Given the description of an element on the screen output the (x, y) to click on. 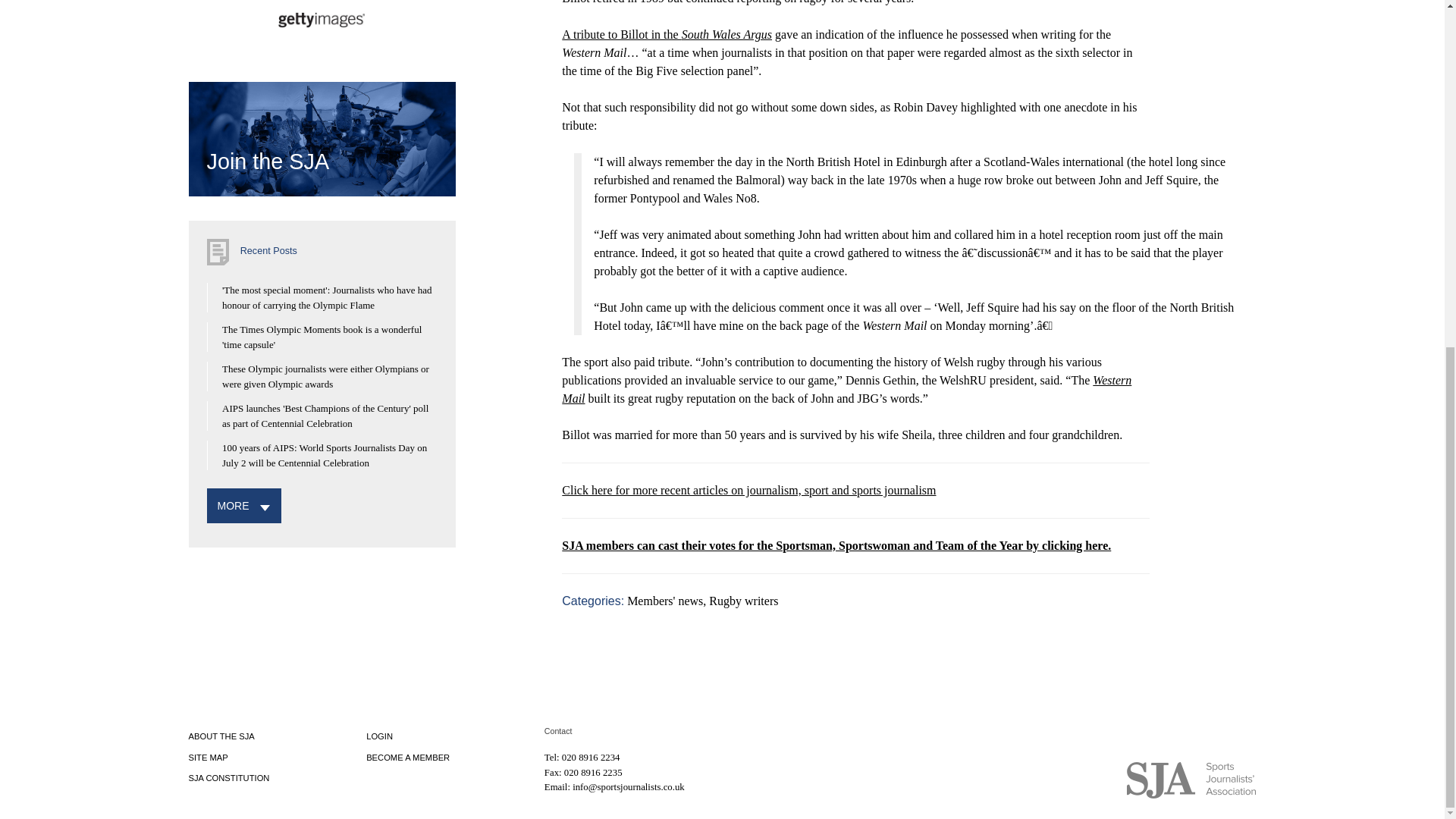
Rugby writers (743, 600)
IMAGES (320, 18)
View more posts from the archive (232, 505)
AFFILIATE (588, 27)
The Times Olympic Moments book is a wonderful 'time capsule' (322, 336)
MORE (232, 505)
ABOUT THE SJA (220, 736)
Click here for more sports journalism links (749, 490)
Members' news (665, 600)
SITE MAP (207, 757)
AIPS page (588, 27)
